Given the description of an element on the screen output the (x, y) to click on. 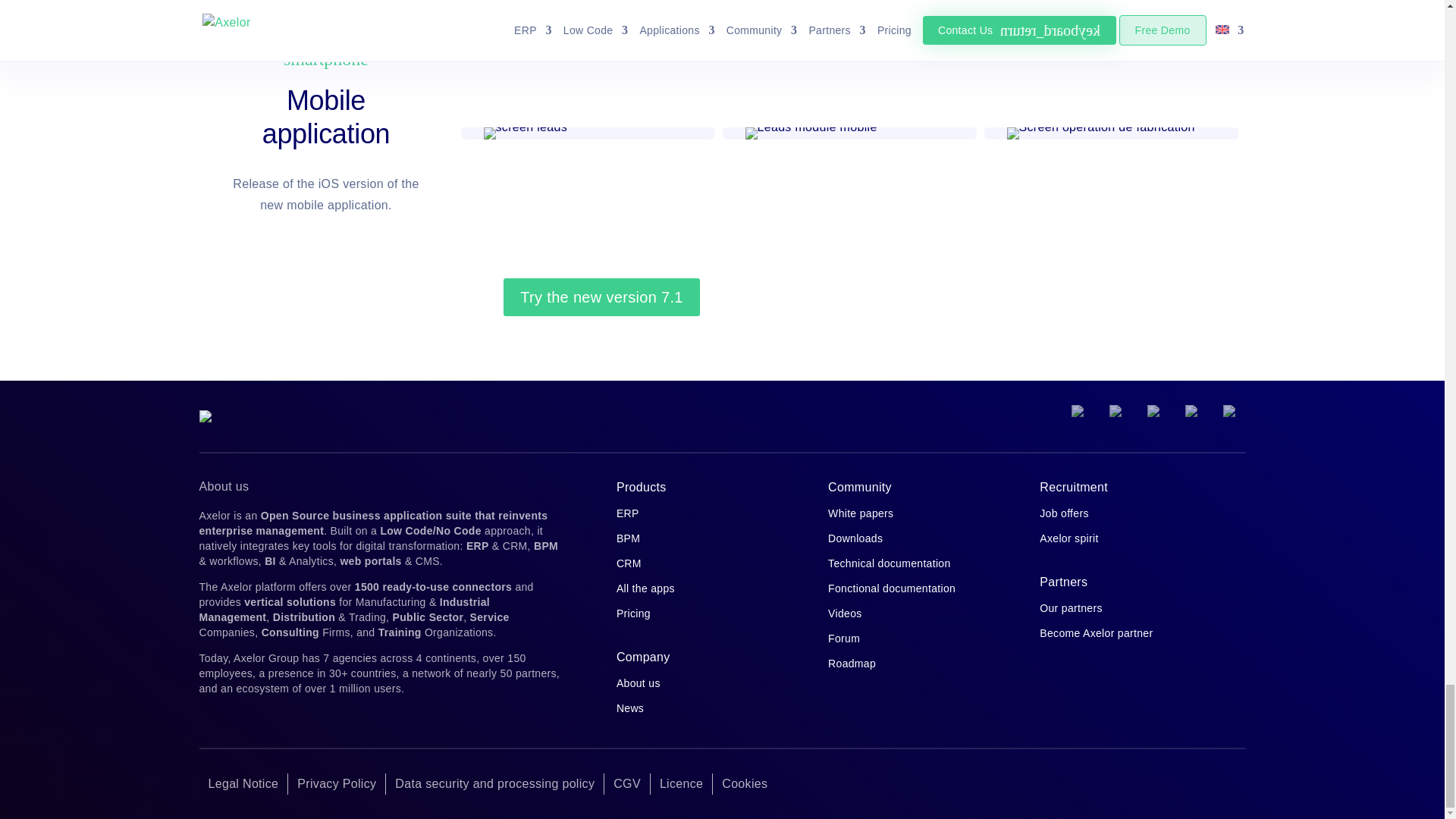
Leads module mobile (810, 138)
leads (525, 133)
screen leads (525, 138)
correction-de-stock (810, 133)
